Given the description of an element on the screen output the (x, y) to click on. 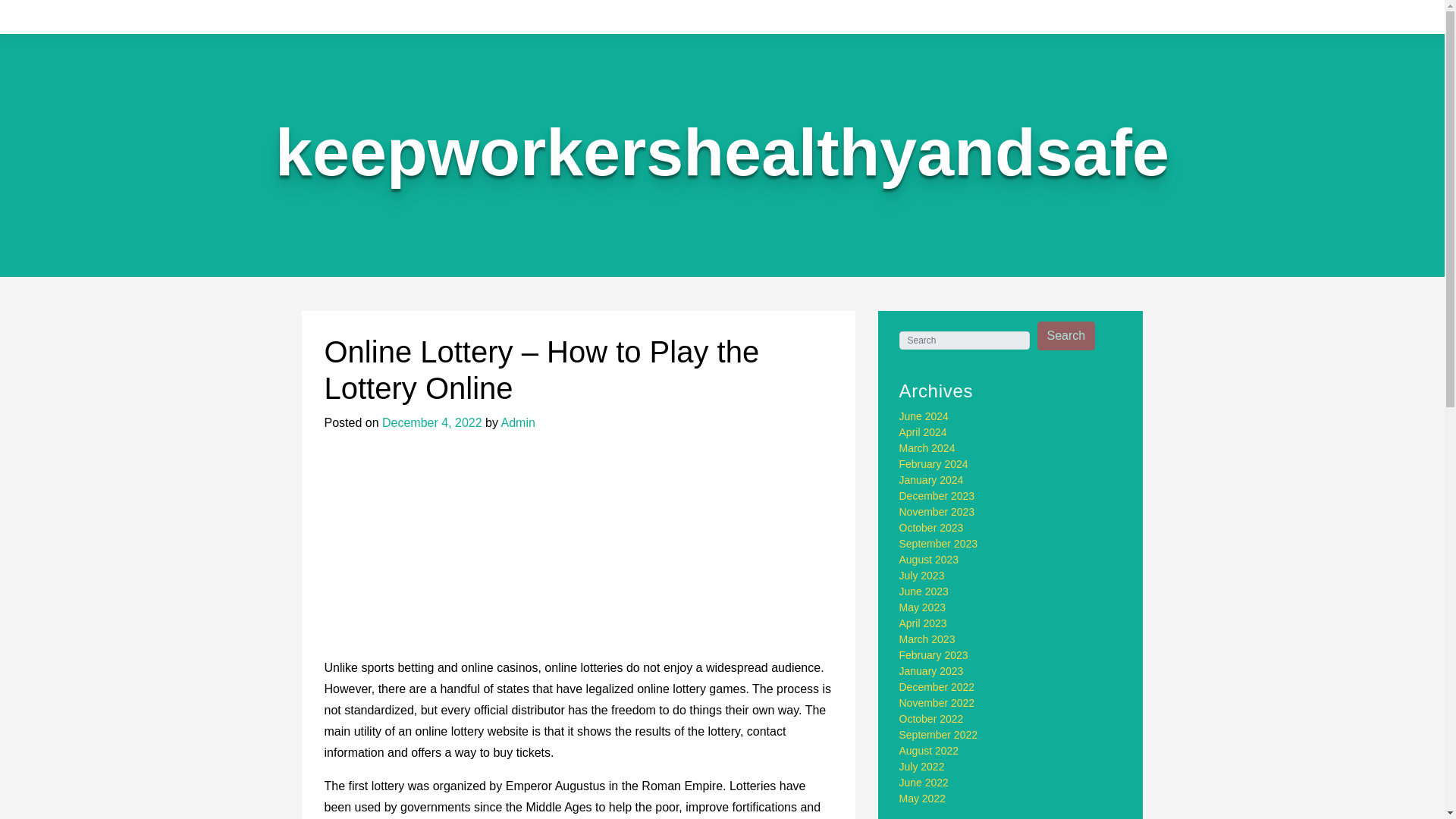
February 2023 (933, 654)
June 2022 (924, 782)
July 2023 (921, 575)
August 2023 (929, 559)
December 2022 (937, 686)
May 2023 (921, 607)
October 2022 (931, 718)
March 2024 (927, 448)
February 2024 (933, 463)
November 2022 (937, 702)
December 2023 (937, 495)
May 2022 (921, 798)
September 2023 (938, 543)
January 2024 (931, 480)
April 2024 (923, 431)
